Given the description of an element on the screen output the (x, y) to click on. 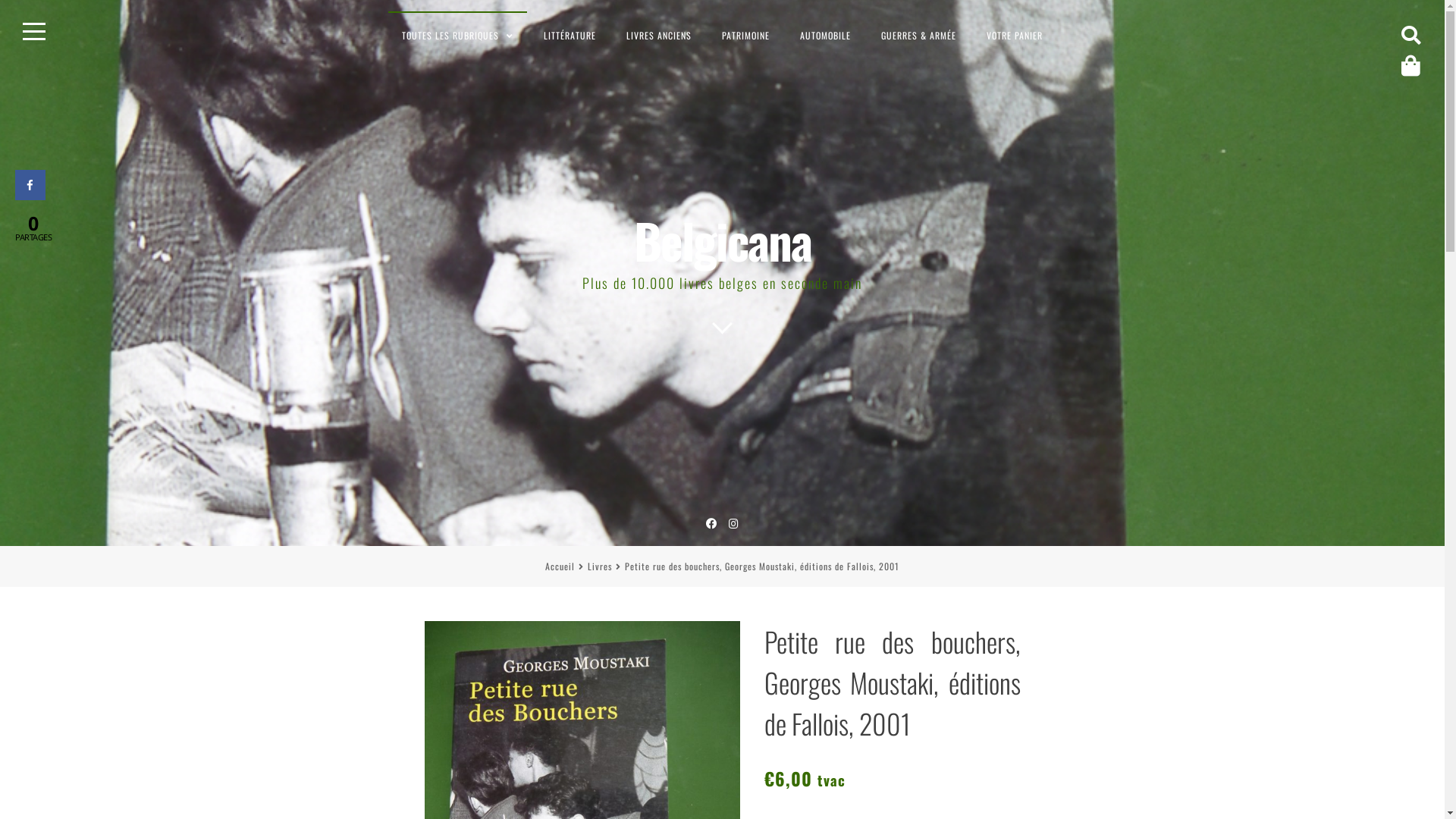
PATRIMOINE Element type: text (745, 34)
LIVRES ANCIENS Element type: text (658, 34)
Instagram Element type: text (733, 522)
Accueil Element type: text (559, 565)
Livres Element type: text (599, 565)
Facebook Element type: text (710, 522)
TOUTES LES RUBRIQUES Element type: text (457, 34)
Share on Facebook Element type: hover (30, 195)
Belgicana Element type: text (722, 239)
VOTRE PANIER Element type: text (1014, 34)
AUTOMOBILE Element type: text (825, 34)
